Given the description of an element on the screen output the (x, y) to click on. 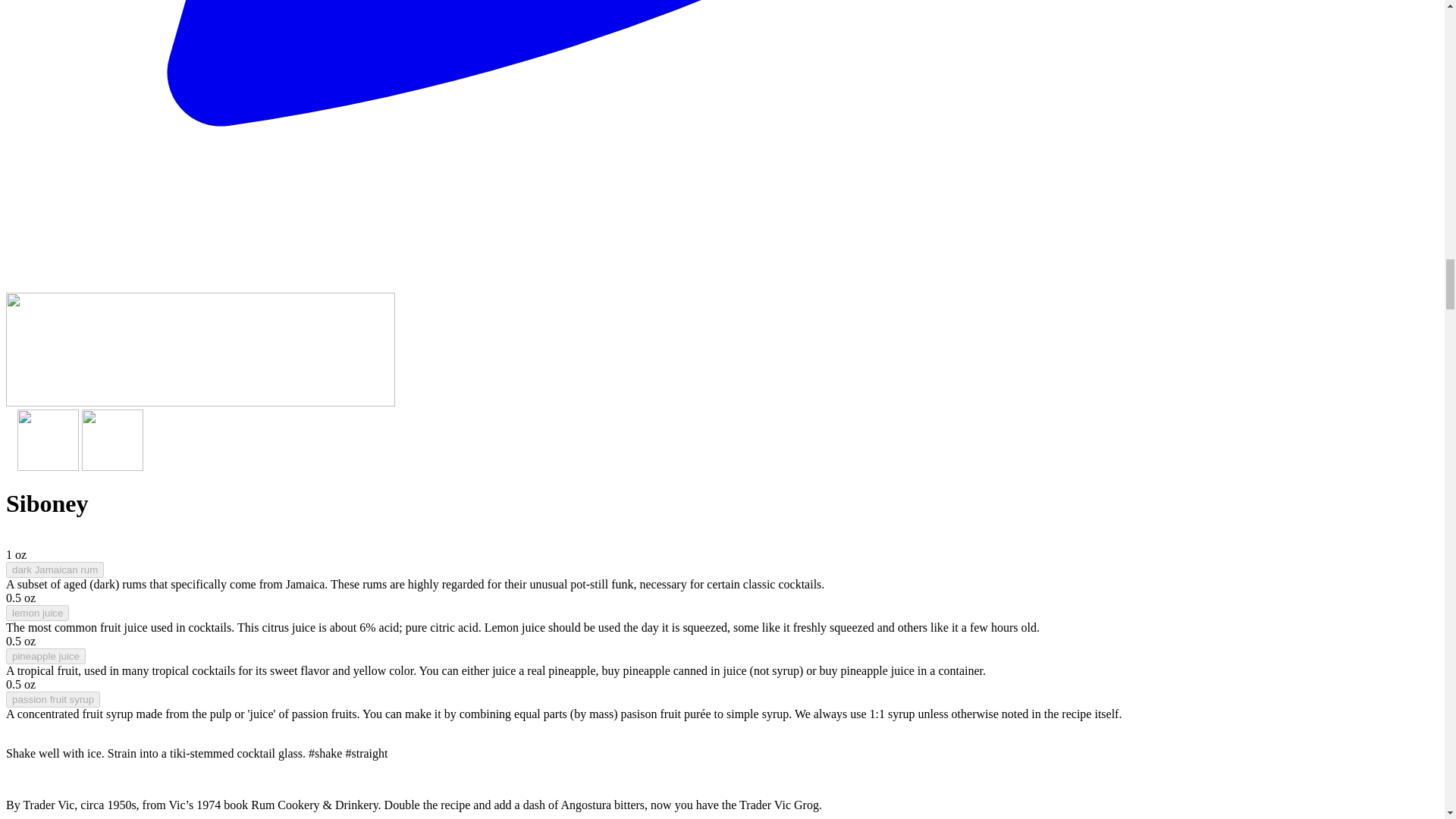
passion fruit syrup (52, 699)
lemon juice (36, 612)
pineapple juice (45, 656)
dark Jamaican rum (54, 569)
